Given the description of an element on the screen output the (x, y) to click on. 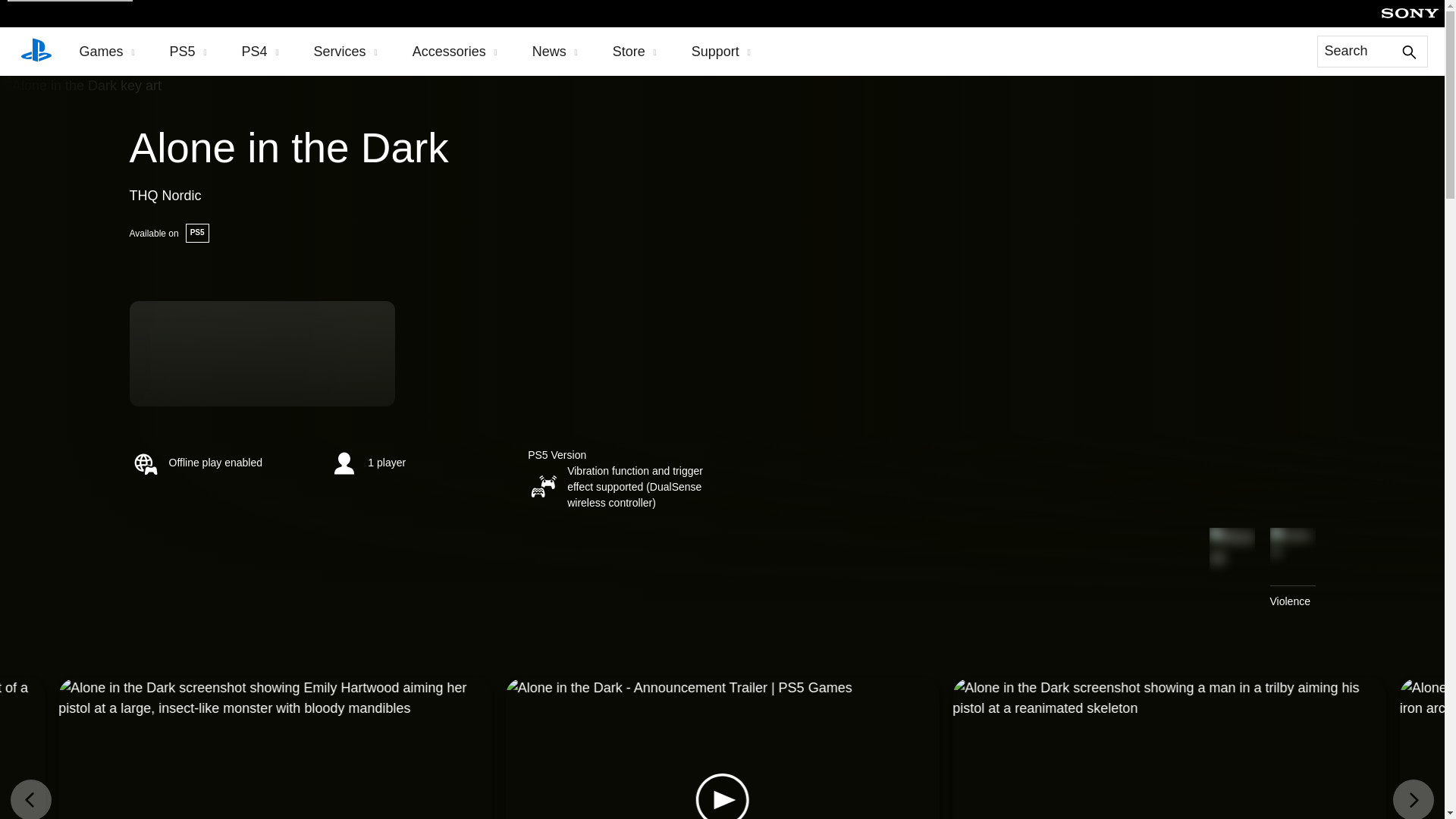
Accessories (454, 51)
PS4 (260, 51)
PS5 (188, 51)
Services (345, 51)
Skip to main content (69, 0)
Games (106, 51)
